Given the description of an element on the screen output the (x, y) to click on. 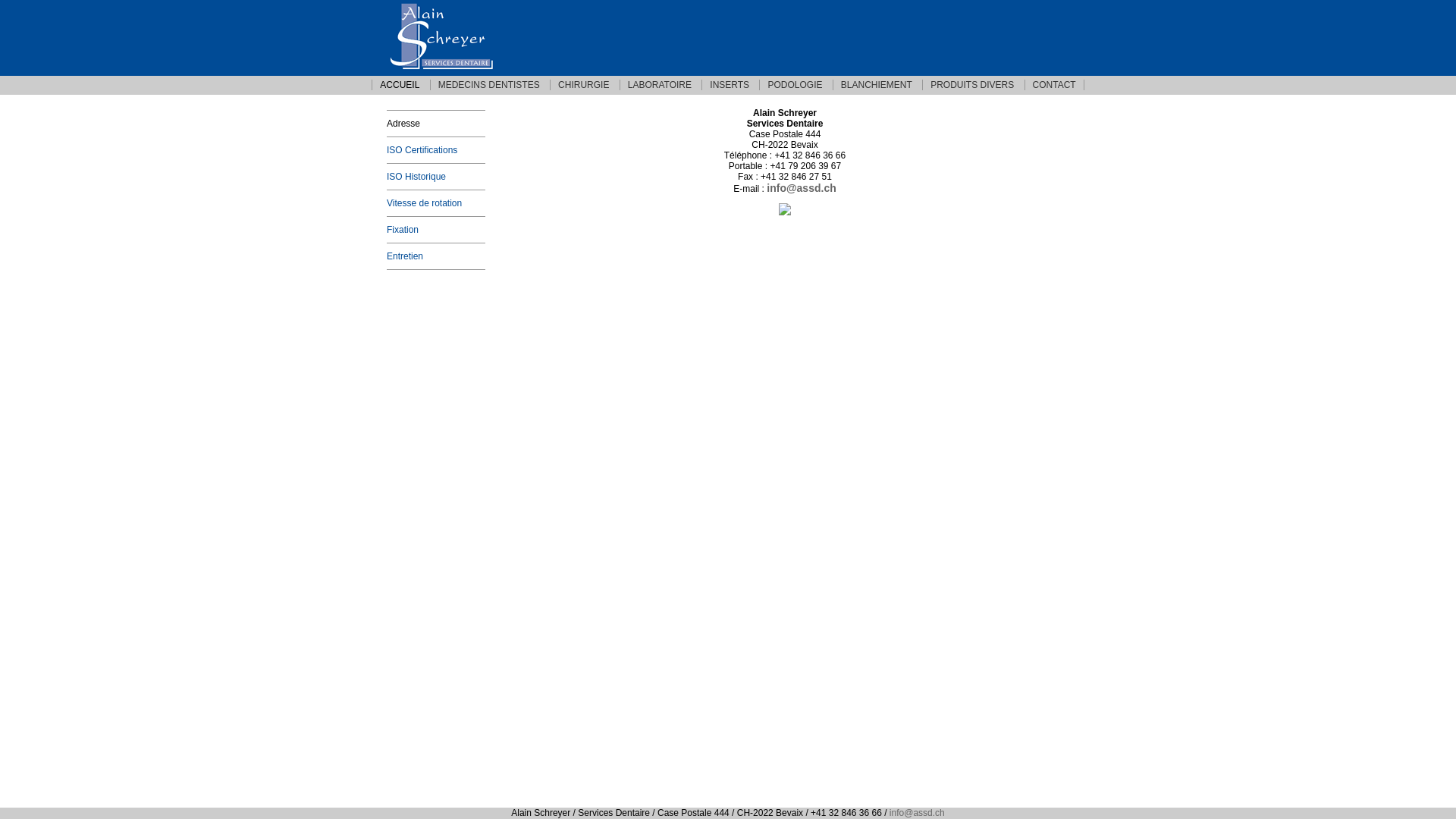
ACCUEIL Element type: text (398, 84)
Entretien Element type: text (435, 256)
ISO Certifications Element type: text (435, 149)
Fixation Element type: text (435, 229)
CONTACT Element type: text (1053, 84)
Adresse Element type: text (435, 123)
BLANCHIEMENT Element type: text (875, 84)
Vitesse de rotation Element type: text (435, 202)
ISO Historique Element type: text (435, 176)
CHIRURGIE Element type: text (582, 84)
info@assd.ch Element type: text (916, 812)
info@assd.ch Element type: text (800, 188)
MEDECINS DENTISTES Element type: text (488, 84)
PODOLOGIE Element type: text (794, 84)
PRODUITS DIVERS Element type: text (971, 84)
LABORATOIRE Element type: text (659, 84)
INSERTS Element type: text (728, 84)
